Given the description of an element on the screen output the (x, y) to click on. 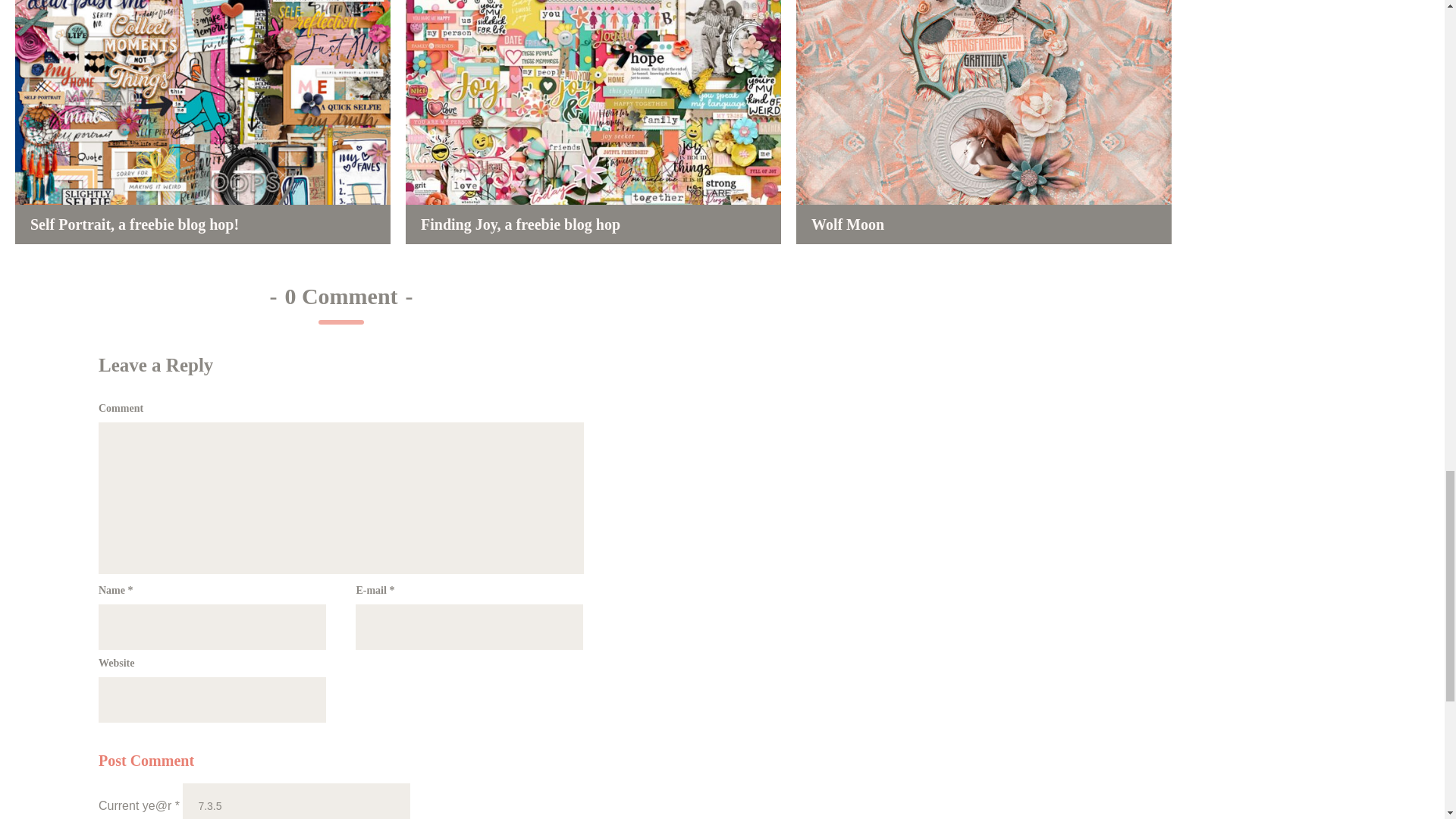
Post Comment (146, 759)
Self Portrait, a freebie blog hop! (202, 122)
7.3.5 (296, 800)
